Given the description of an element on the screen output the (x, y) to click on. 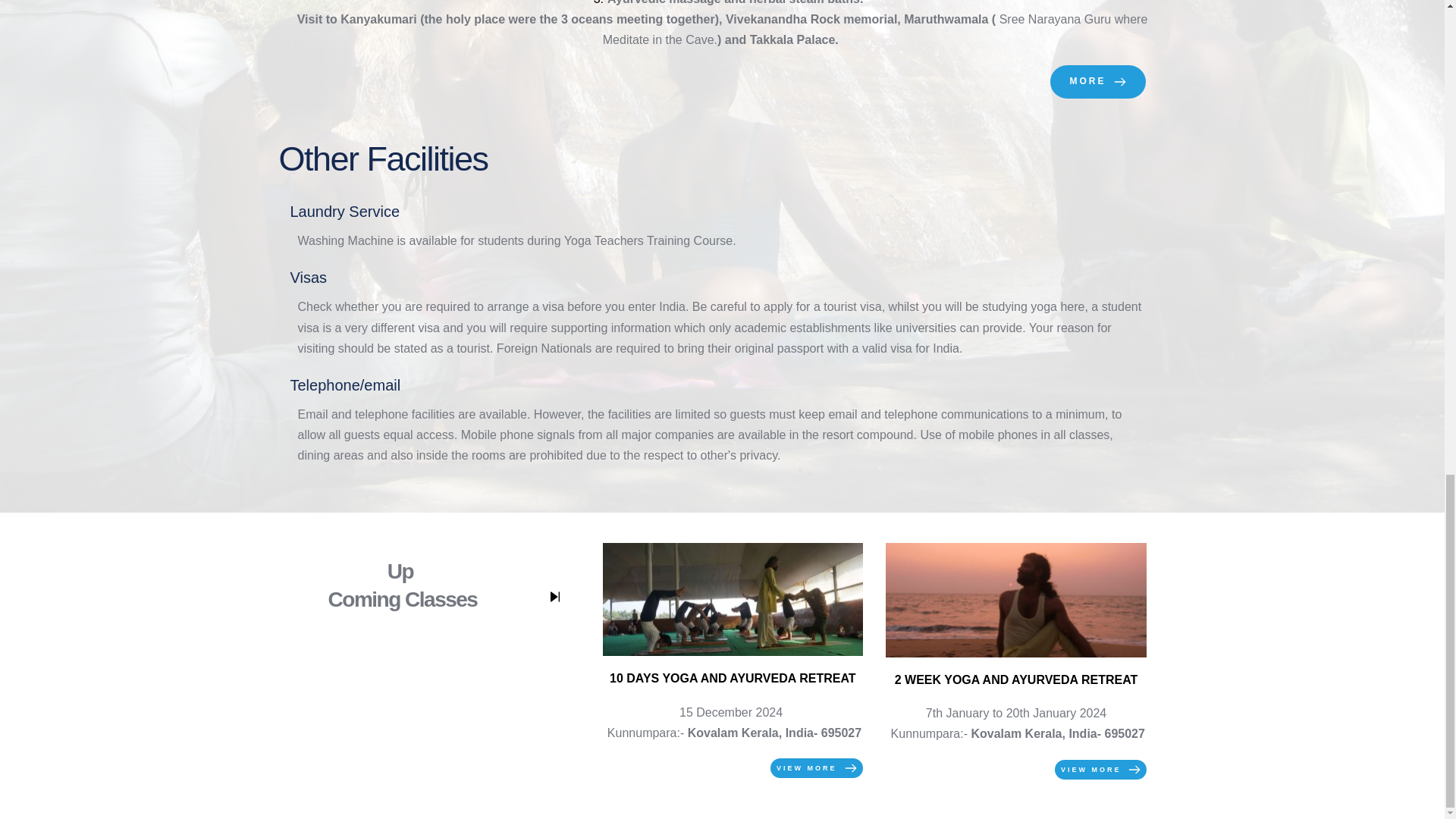
VIEW MORE (816, 768)
MORE (1096, 81)
VIEW MORE (1100, 769)
